Given the description of an element on the screen output the (x, y) to click on. 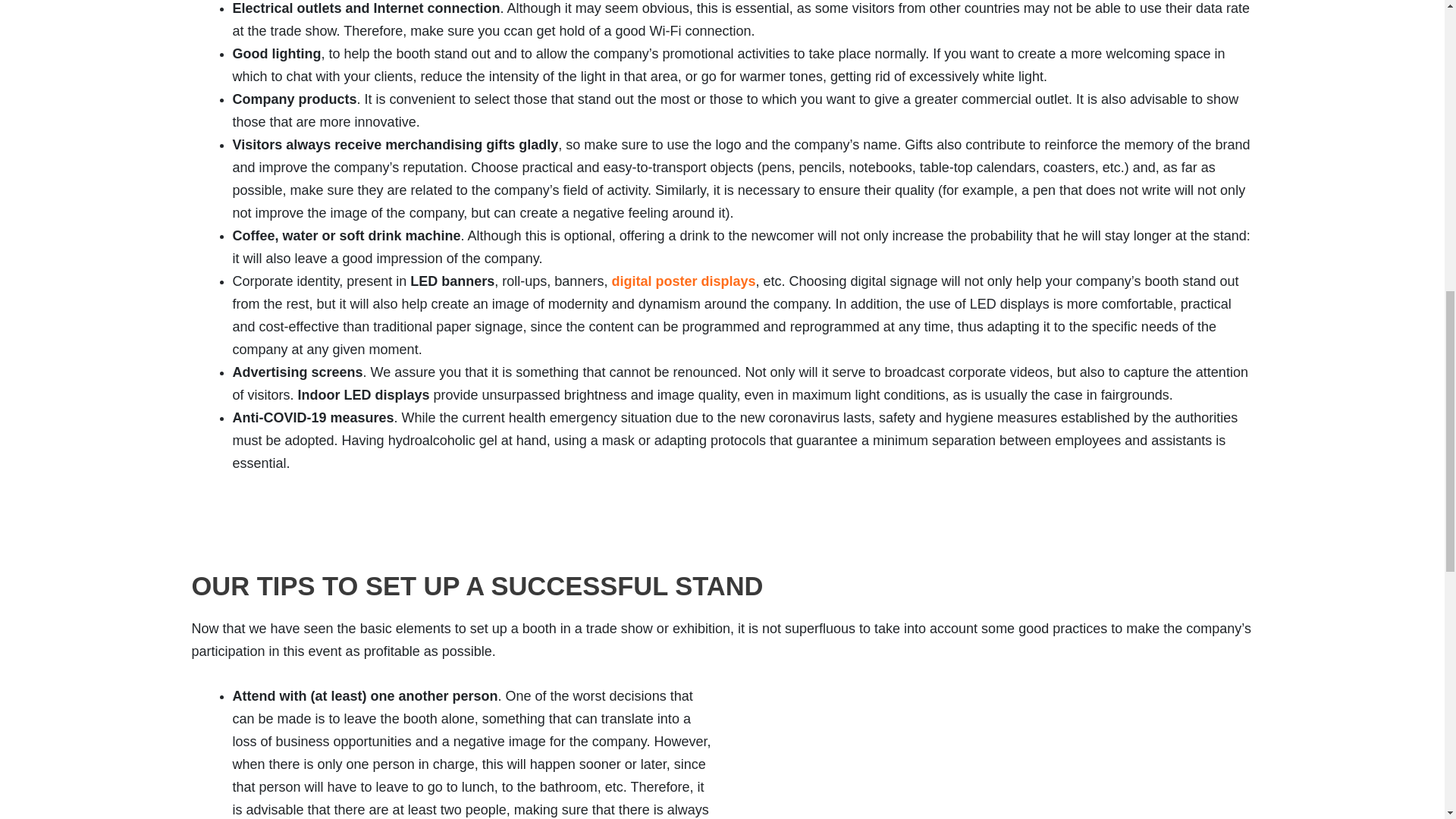
Top tips to set up a trade show booth 1 (991, 761)
